Given the description of an element on the screen output the (x, y) to click on. 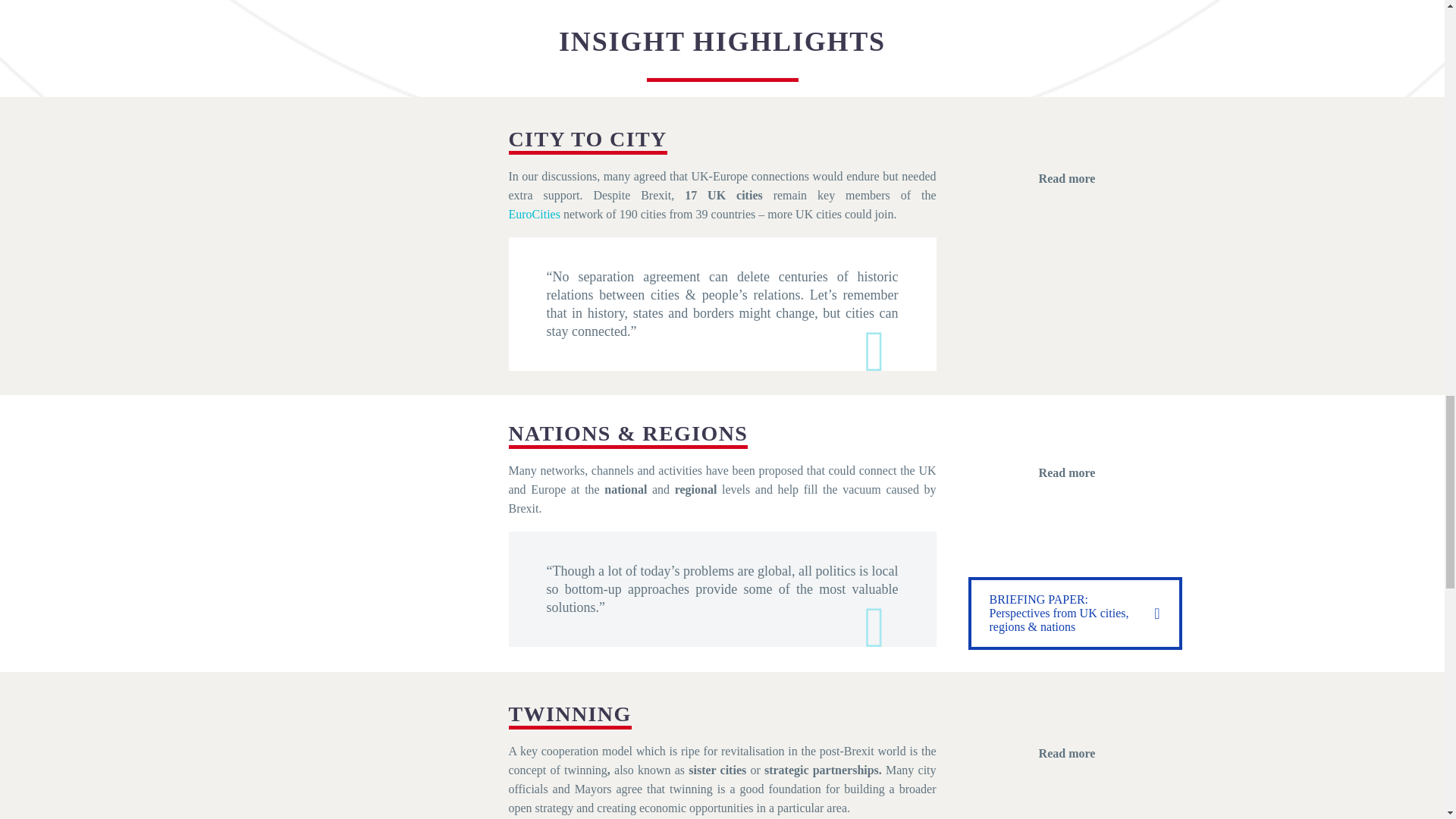
EuroCities (533, 214)
